Given the description of an element on the screen output the (x, y) to click on. 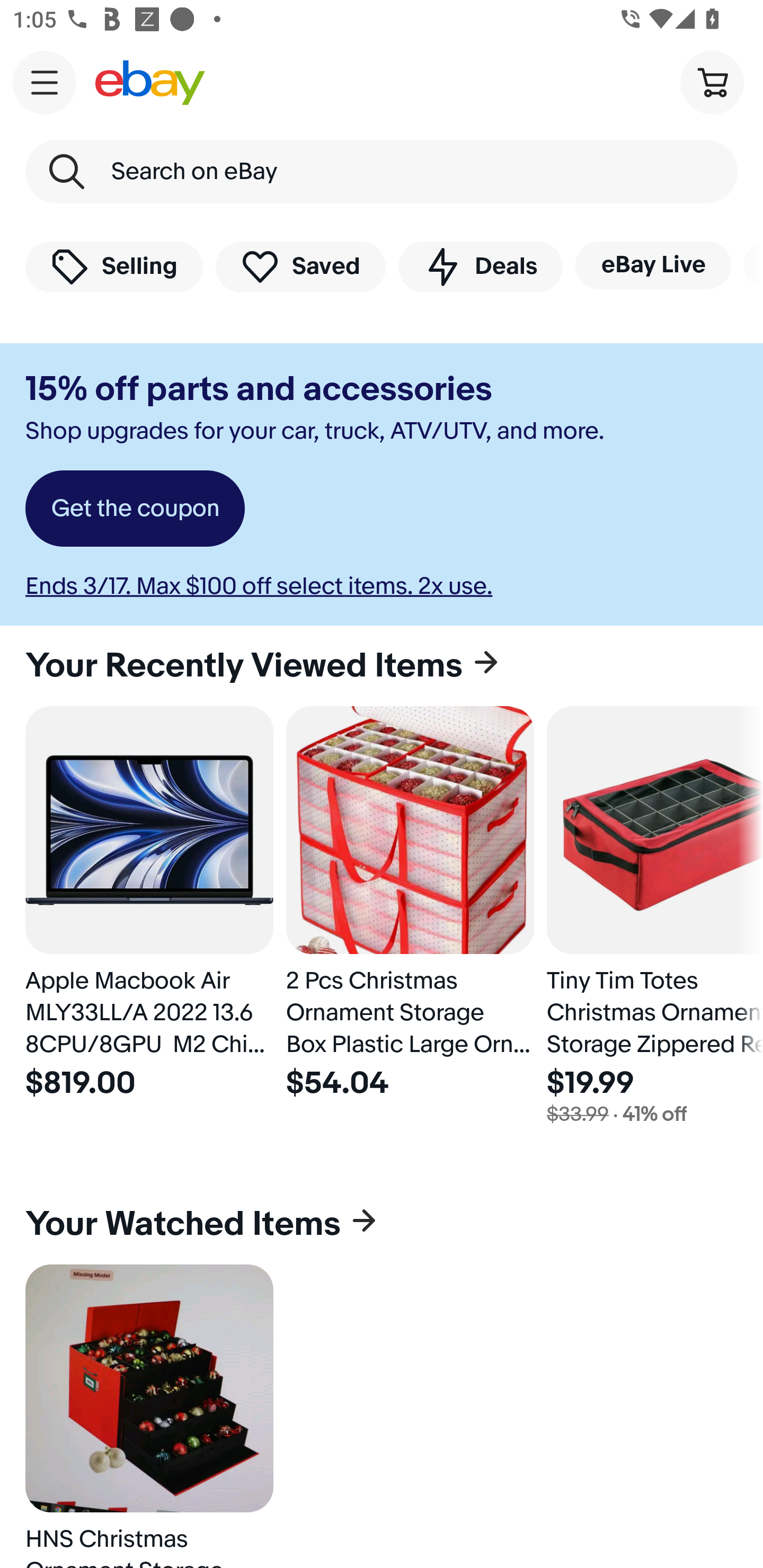
Main navigation, open (44, 82)
Cart button shopping cart (711, 81)
Search on eBay Search Keyword Search on eBay (381, 171)
Selling (113, 266)
Saved (300, 266)
Deals (480, 266)
eBay Live (652, 264)
15% off parts and accessories (258, 389)
Get the coupon (134, 508)
Ends 3/17. Max $100 off select items. 2x use. (258, 586)
Your Recently Viewed Items   (381, 665)
Your Watched Items   (381, 1223)
